Given the description of an element on the screen output the (x, y) to click on. 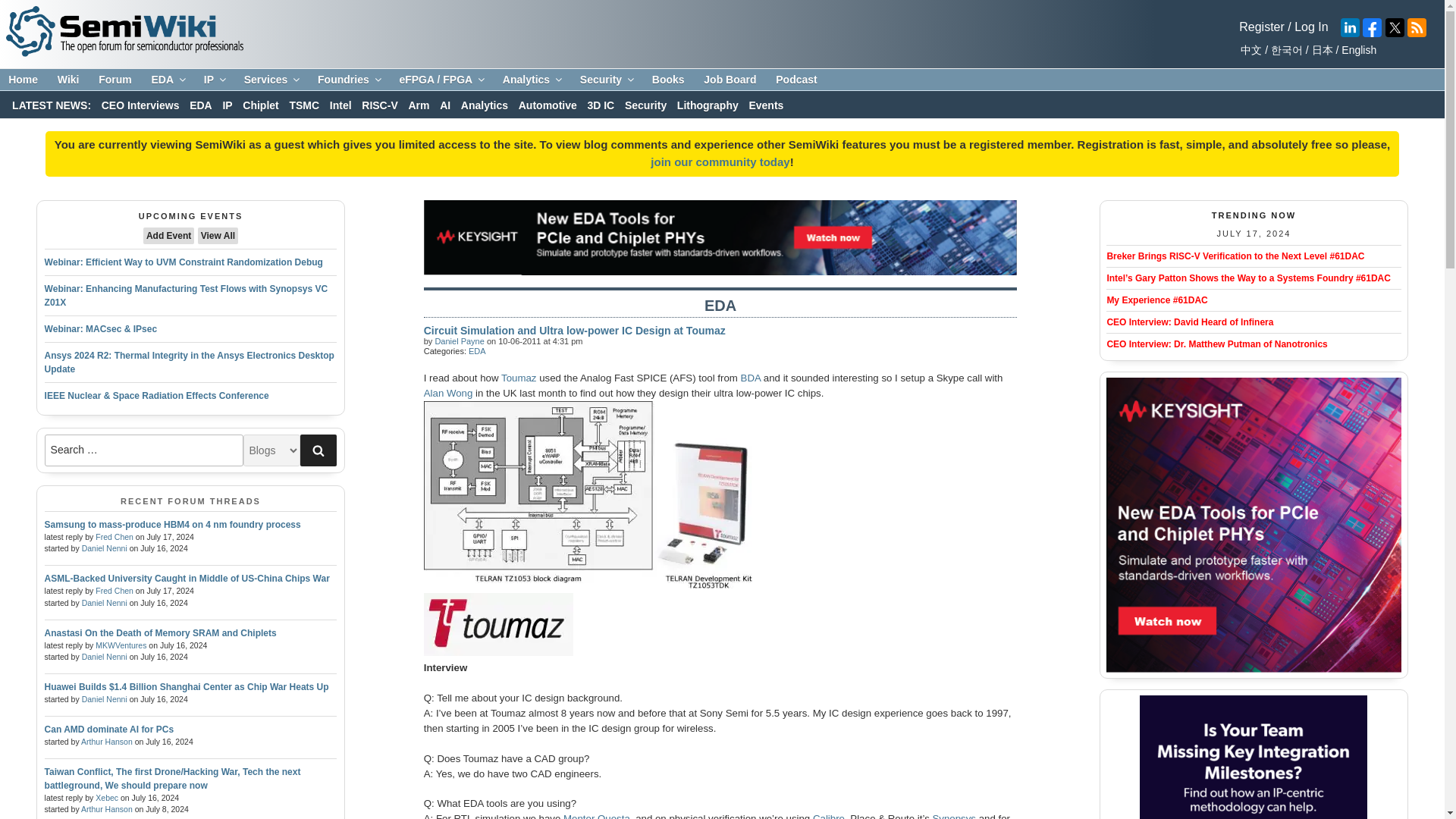
Korean (1284, 50)
Home (23, 79)
Log In (1310, 26)
Wiki (68, 79)
EDA (167, 79)
Register (1261, 26)
Forum (114, 79)
Japanese (1319, 50)
Login (1261, 26)
IP (213, 79)
Webinar: Efficient Way to UVM Constraint Randomization Debug (184, 262)
Login (719, 161)
English (1356, 50)
Login (1310, 26)
